Given the description of an element on the screen output the (x, y) to click on. 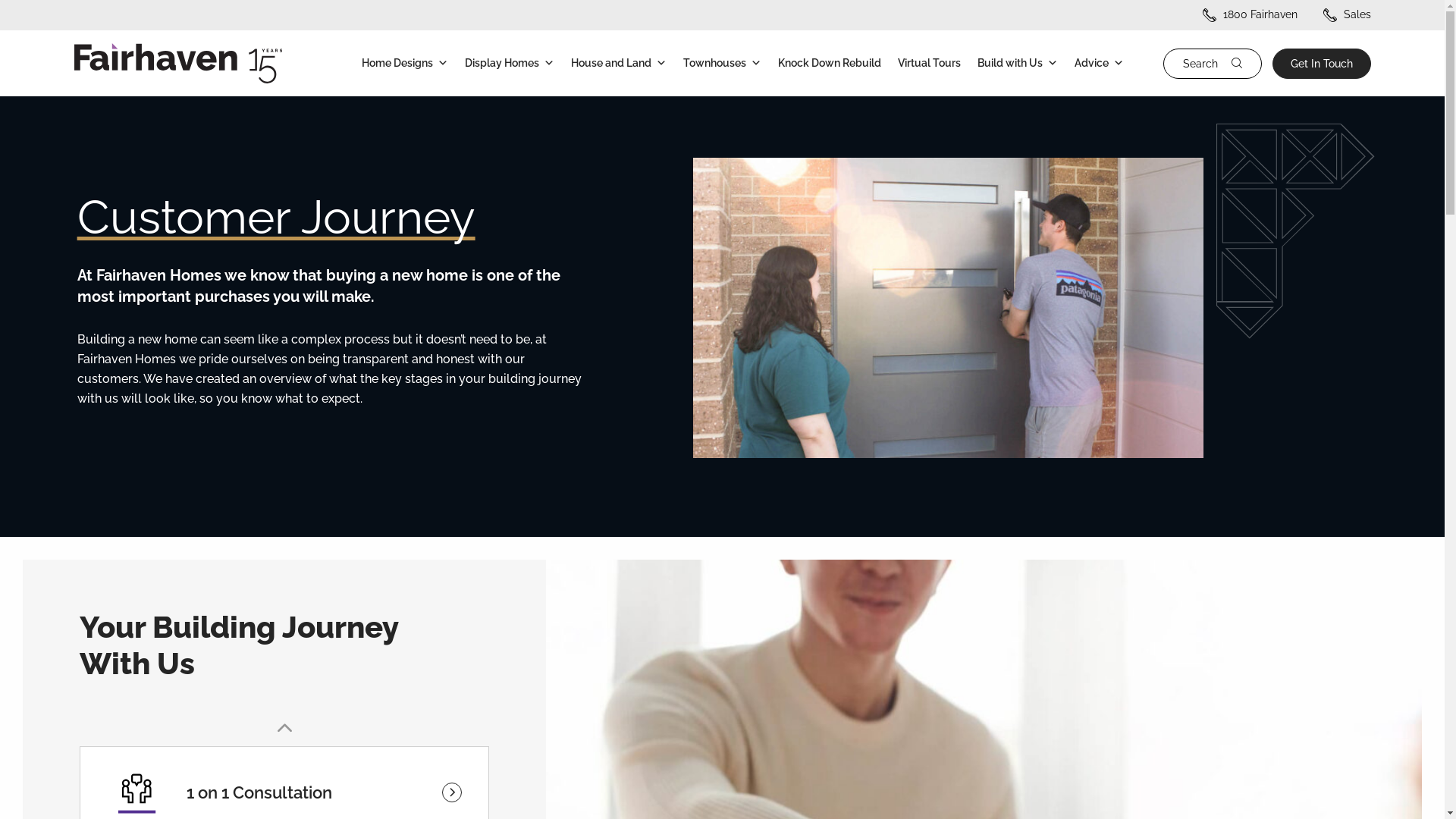
Search Element type: text (1212, 63)
Home Designs Element type: text (404, 63)
House and Land Element type: text (618, 63)
1800 Fairhaven Element type: text (1249, 14)
Get In Touch Element type: text (1321, 63)
Search Element type: text (1112, 63)
Townhouses Element type: text (721, 63)
Display Homes Element type: text (509, 63)
Virtual Tours Element type: text (929, 63)
Build with Us Element type: text (1017, 63)
Advice Element type: text (1099, 63)
Knock Down Rebuild Element type: text (830, 63)
Sales Element type: text (1346, 14)
